Given the description of an element on the screen output the (x, y) to click on. 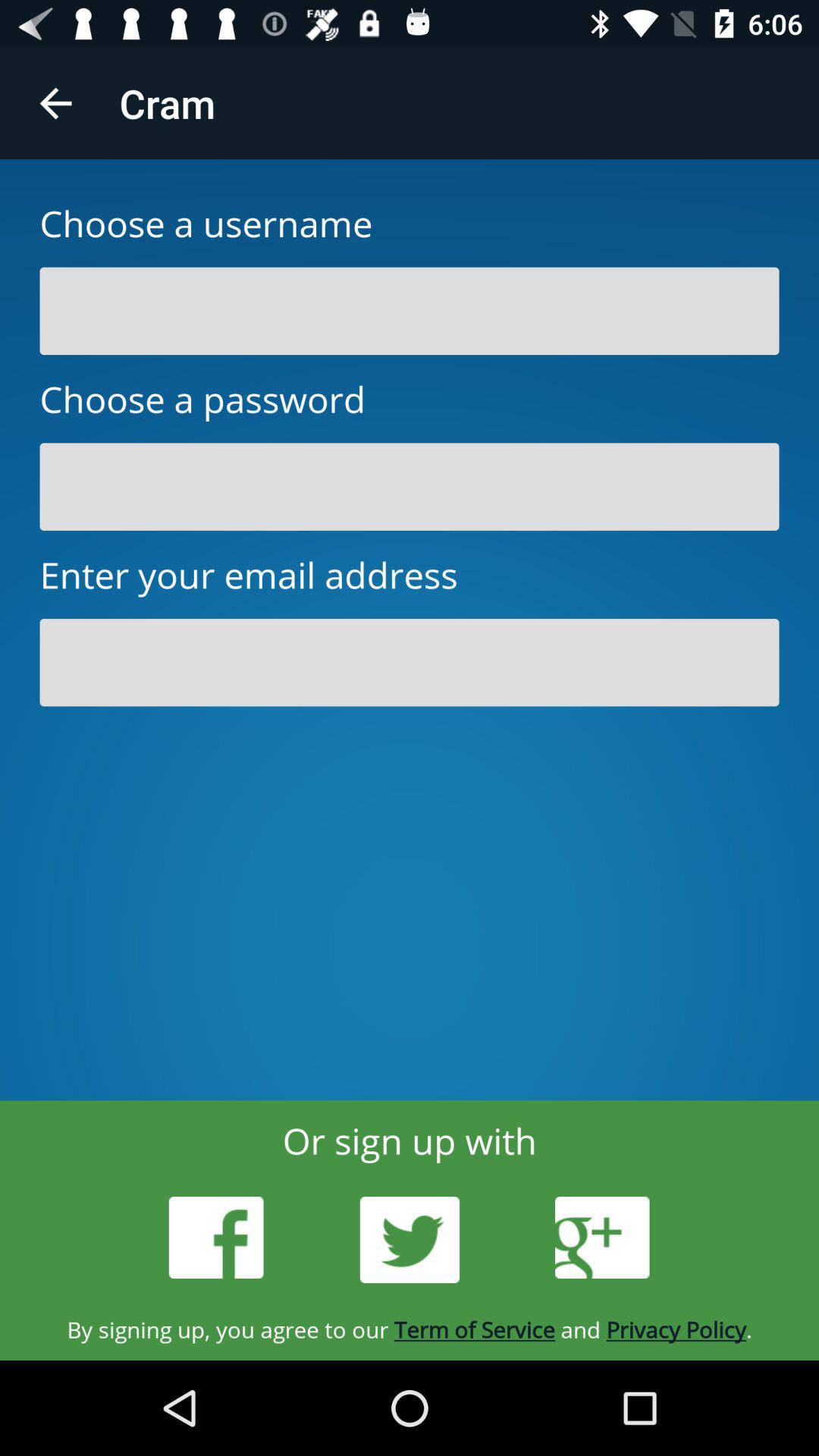
login with google+ (602, 1237)
